Given the description of an element on the screen output the (x, y) to click on. 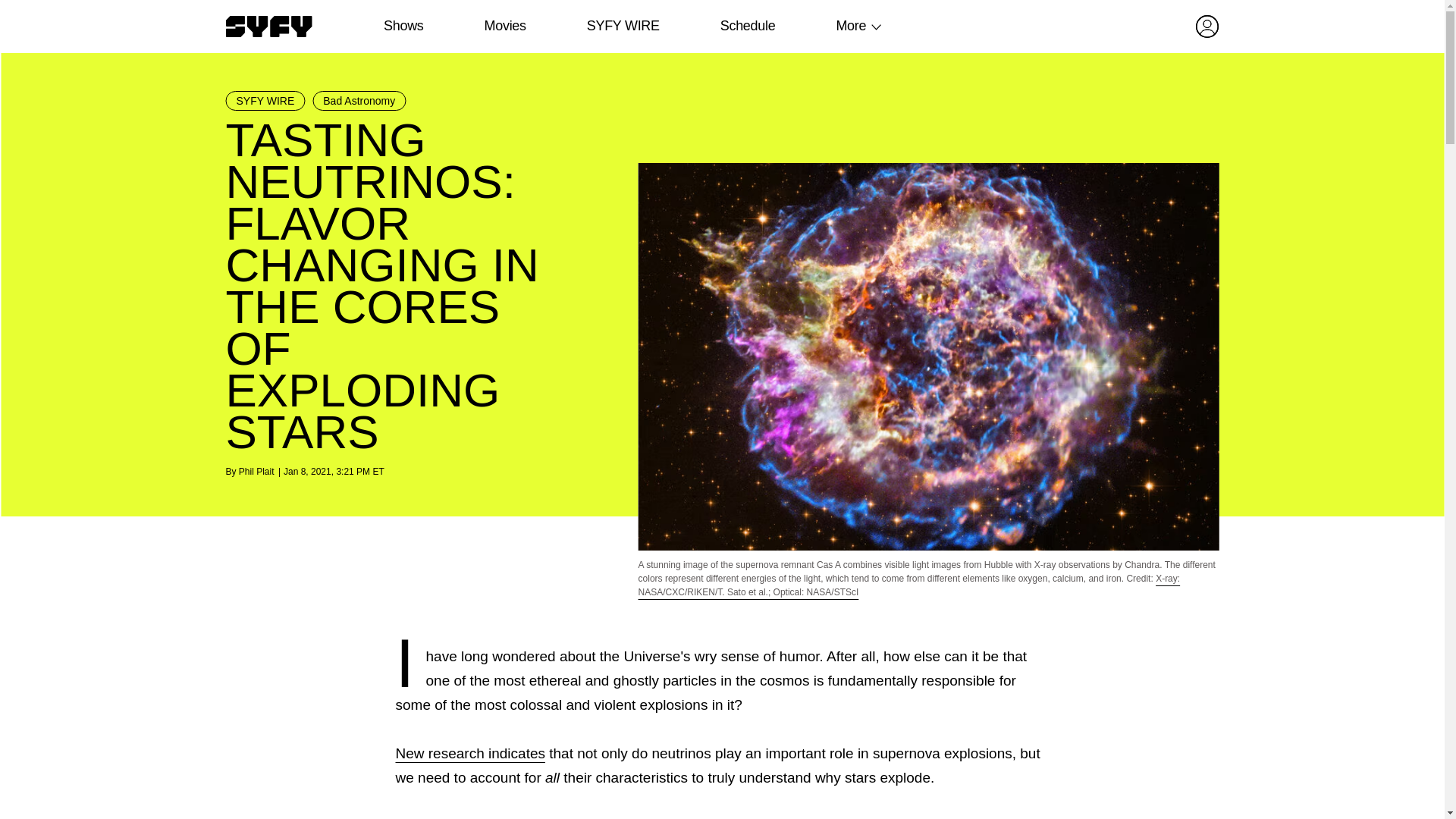
SYFY WIRE (265, 100)
Phil Plait (256, 471)
Shows (403, 26)
More (850, 26)
New research indicates (470, 753)
Movies (504, 26)
Bad Astronomy (359, 100)
Schedule (746, 26)
